Given the description of an element on the screen output the (x, y) to click on. 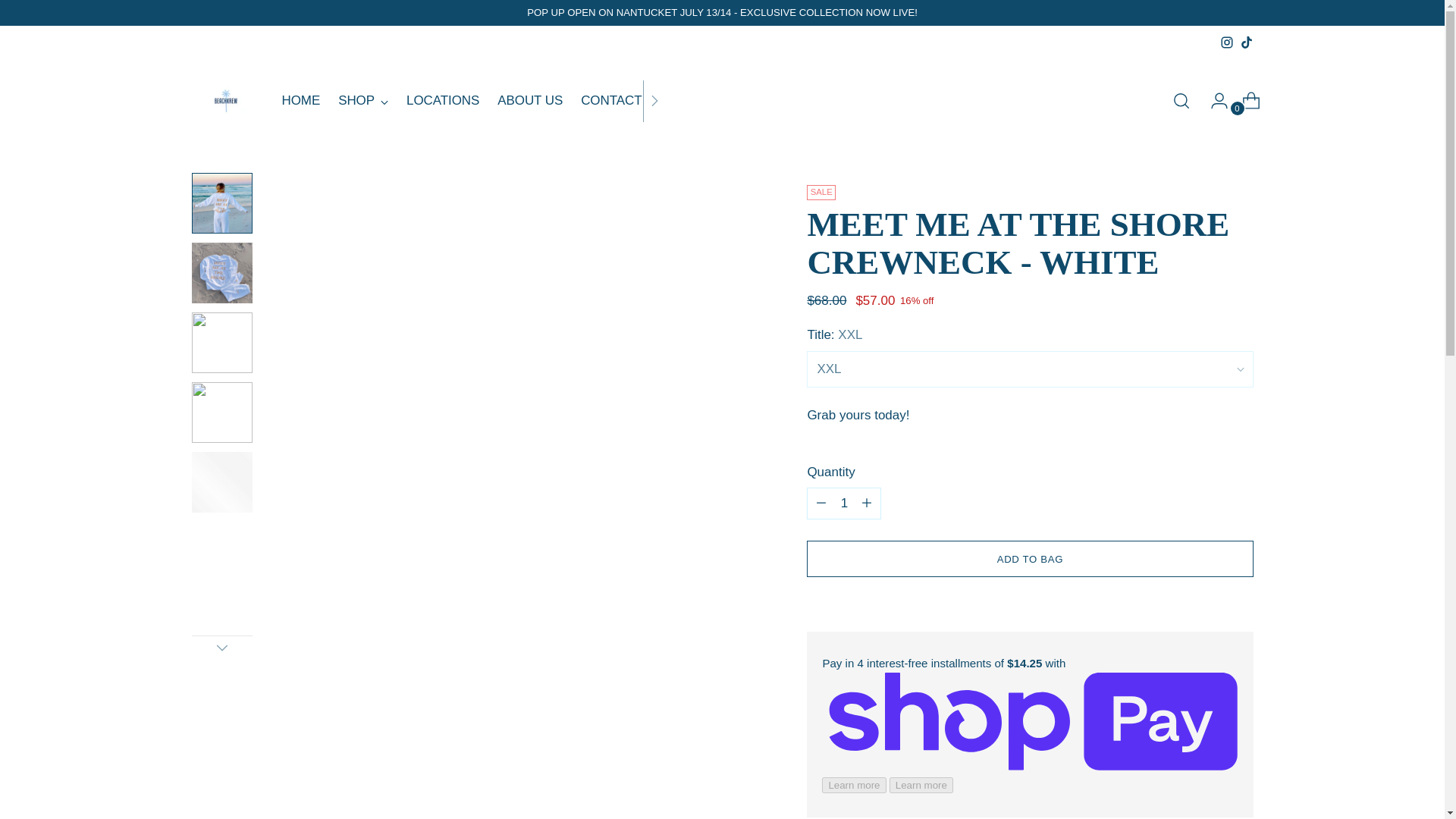
beachkrew on Tiktok (1245, 42)
LOCATIONS (442, 100)
SHOP (473, 100)
beachkrew on Instagram (362, 100)
Down (1226, 42)
HOME (220, 647)
